Given the description of an element on the screen output the (x, y) to click on. 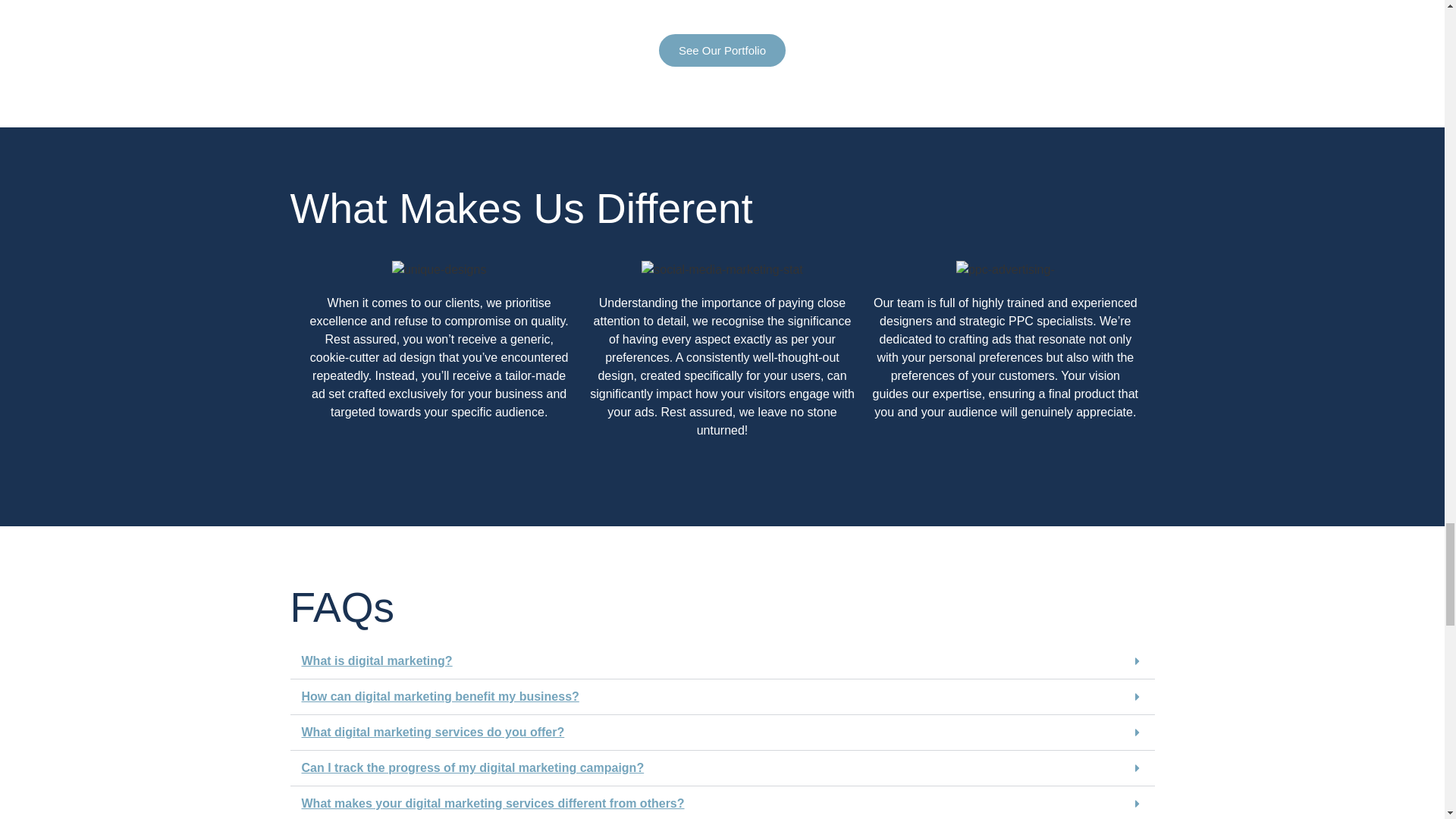
See Our Portfolio (722, 50)
ppc-advertising- (1005, 270)
What digital marketing services do you offer? (432, 731)
unique-designs (438, 270)
What is digital marketing? (376, 660)
social-media-marketing-stat (722, 270)
Can I track the progress of my digital marketing campaign? (473, 767)
How can digital marketing benefit my business? (440, 696)
